Given the description of an element on the screen output the (x, y) to click on. 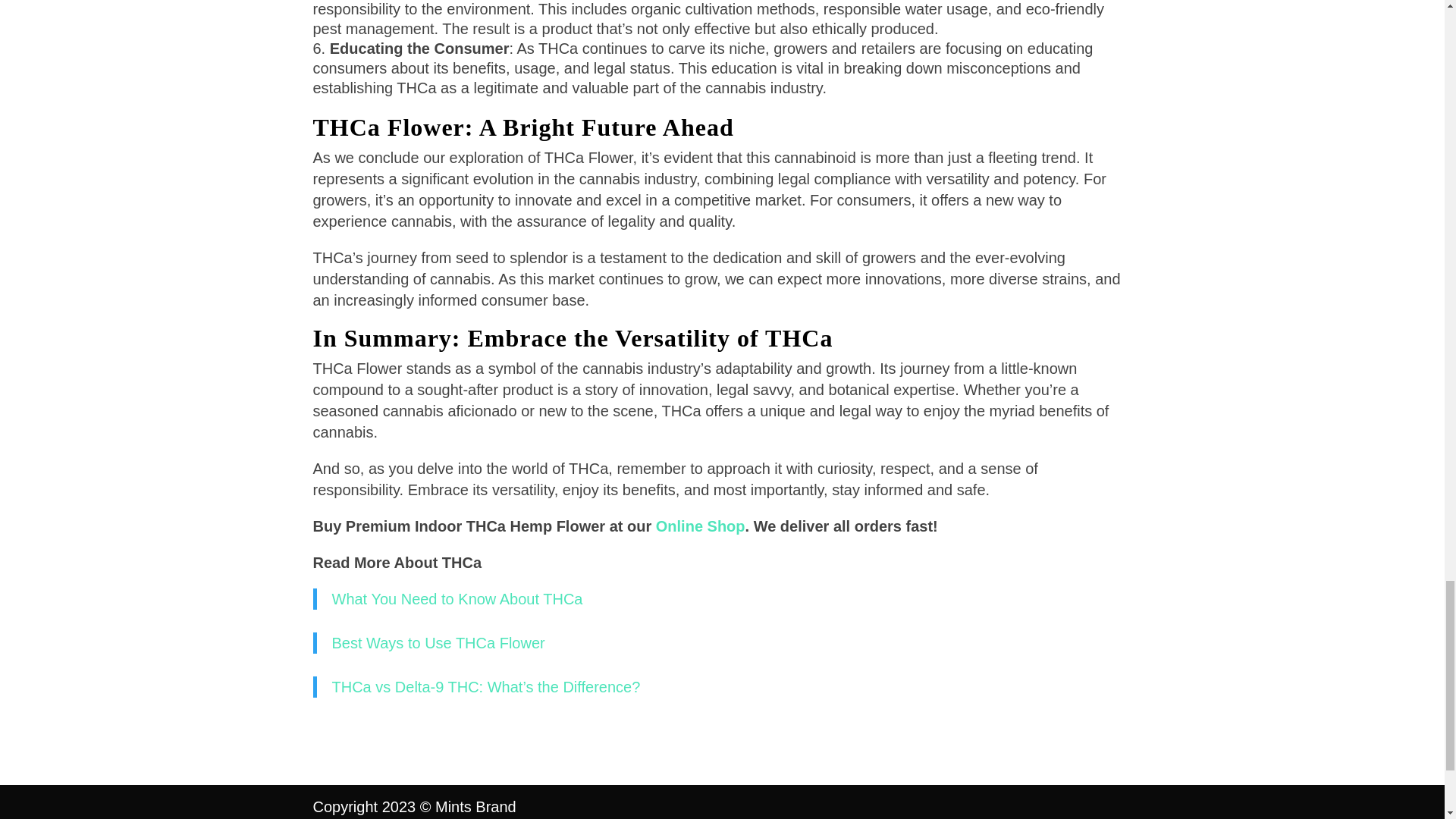
What You Need to Know About THCa (457, 598)
Best Ways to Use THCa Flower (437, 642)
Online Shop (700, 525)
